Given the description of an element on the screen output the (x, y) to click on. 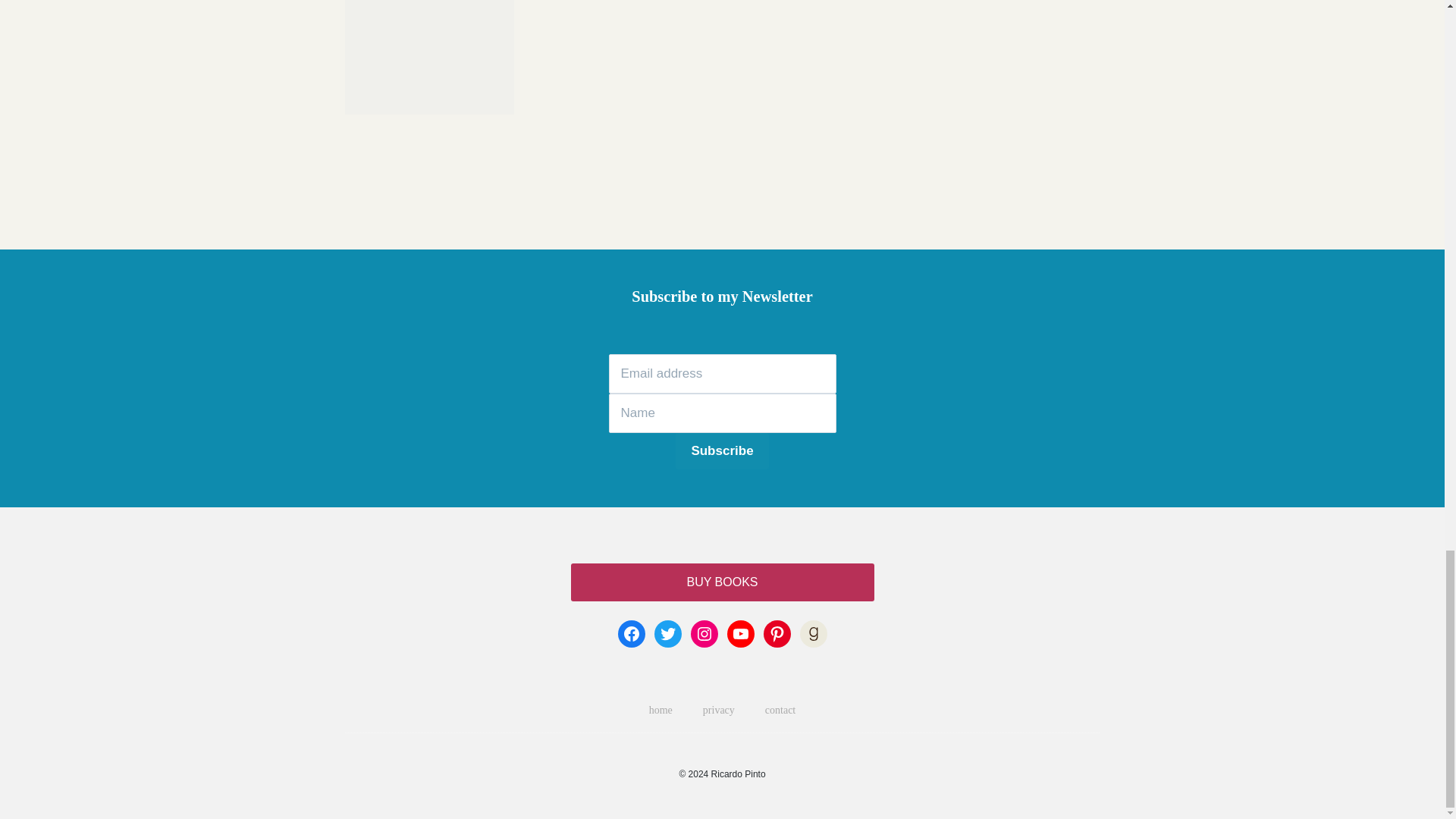
BUY BOOKS (721, 581)
YouTube (740, 633)
Facebook (631, 633)
Subscribe (721, 451)
privacy (718, 709)
Subscribe (721, 451)
Twitter (667, 633)
Goodreads (813, 633)
home (660, 709)
Instagram (703, 633)
